Given the description of an element on the screen output the (x, y) to click on. 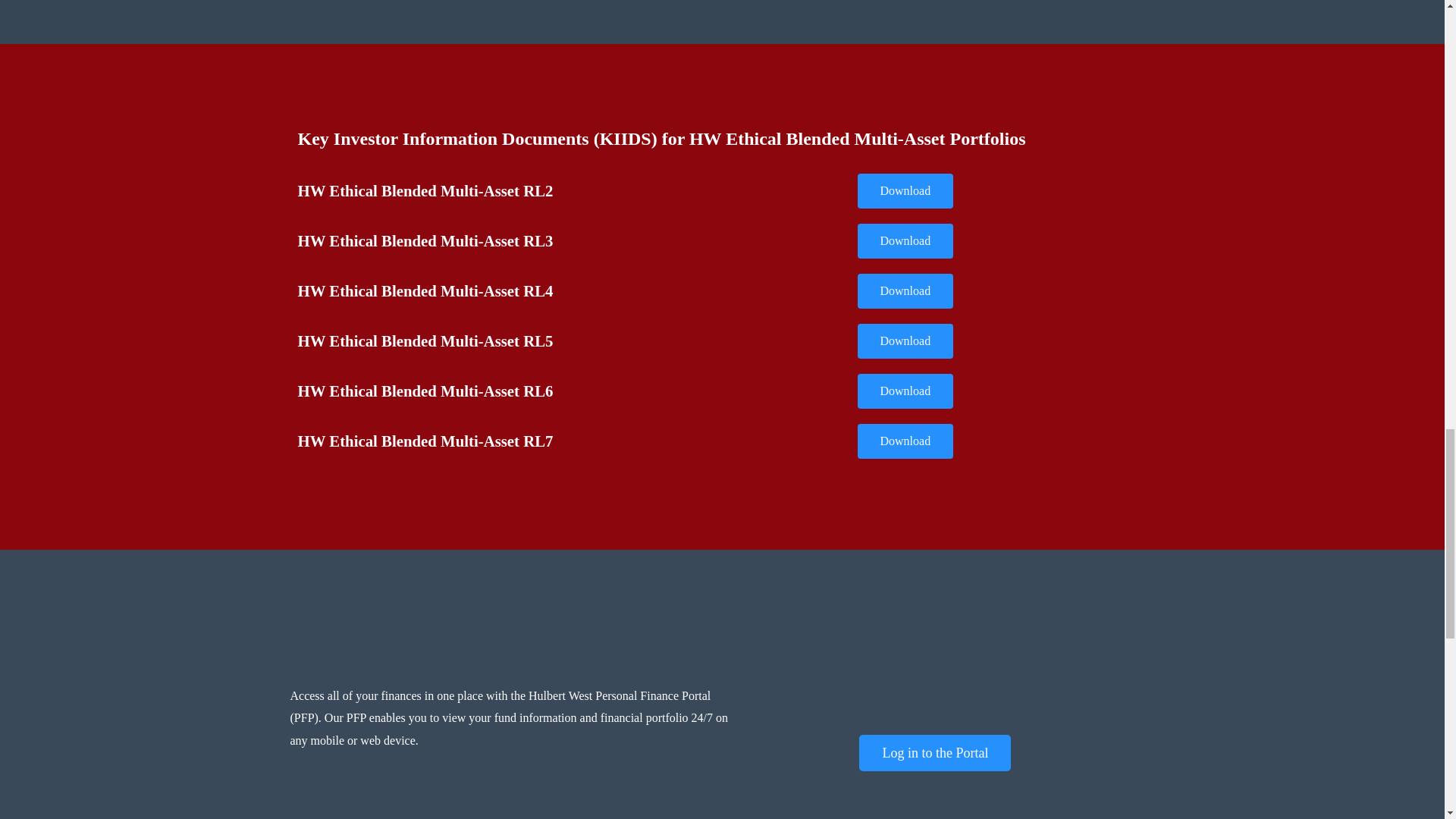
Download (905, 240)
Download (905, 190)
